Given the description of an element on the screen output the (x, y) to click on. 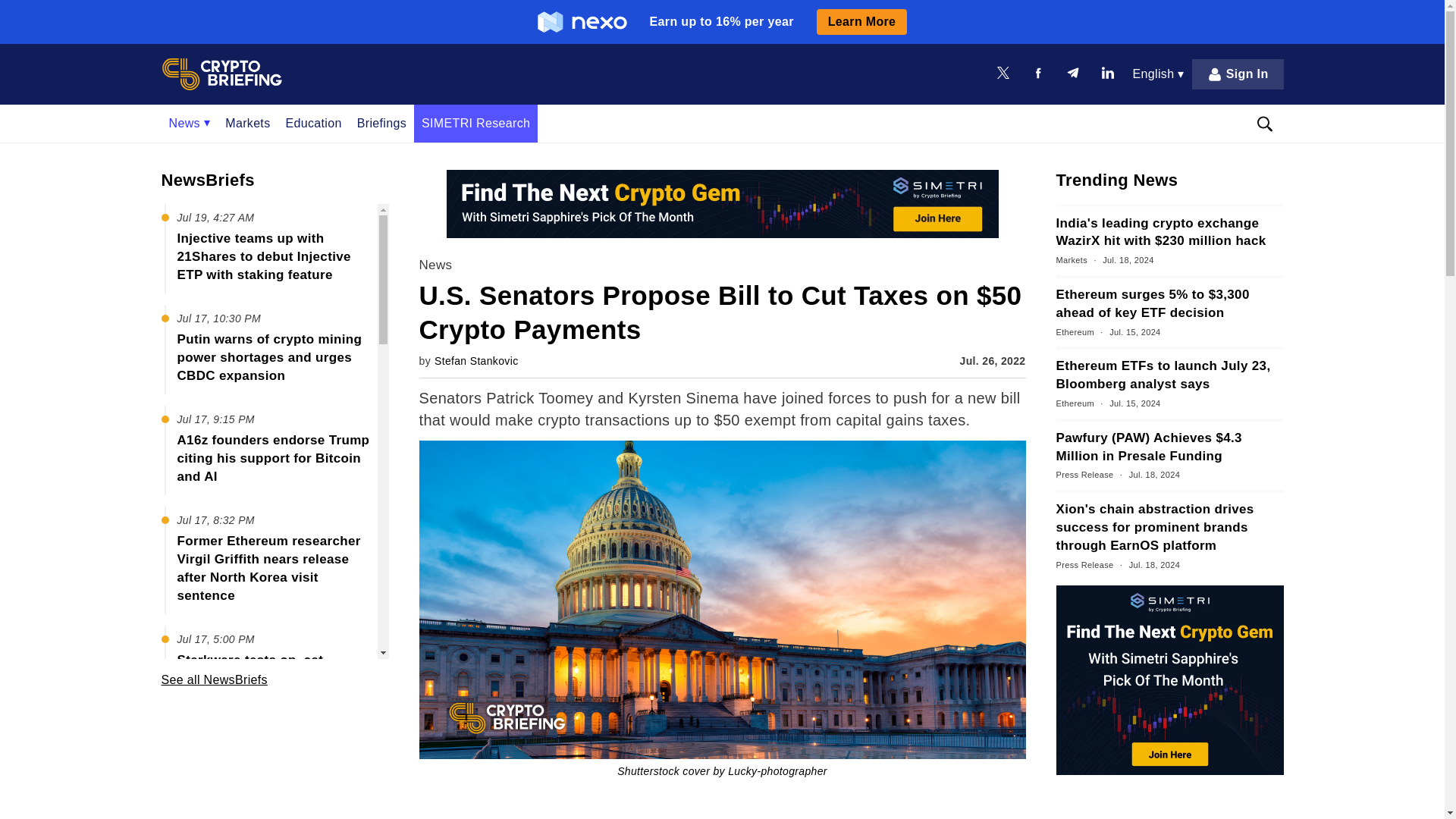
Sign In (1238, 73)
Sign In (1238, 73)
Learn More (861, 22)
News (188, 123)
